Given the description of an element on the screen output the (x, y) to click on. 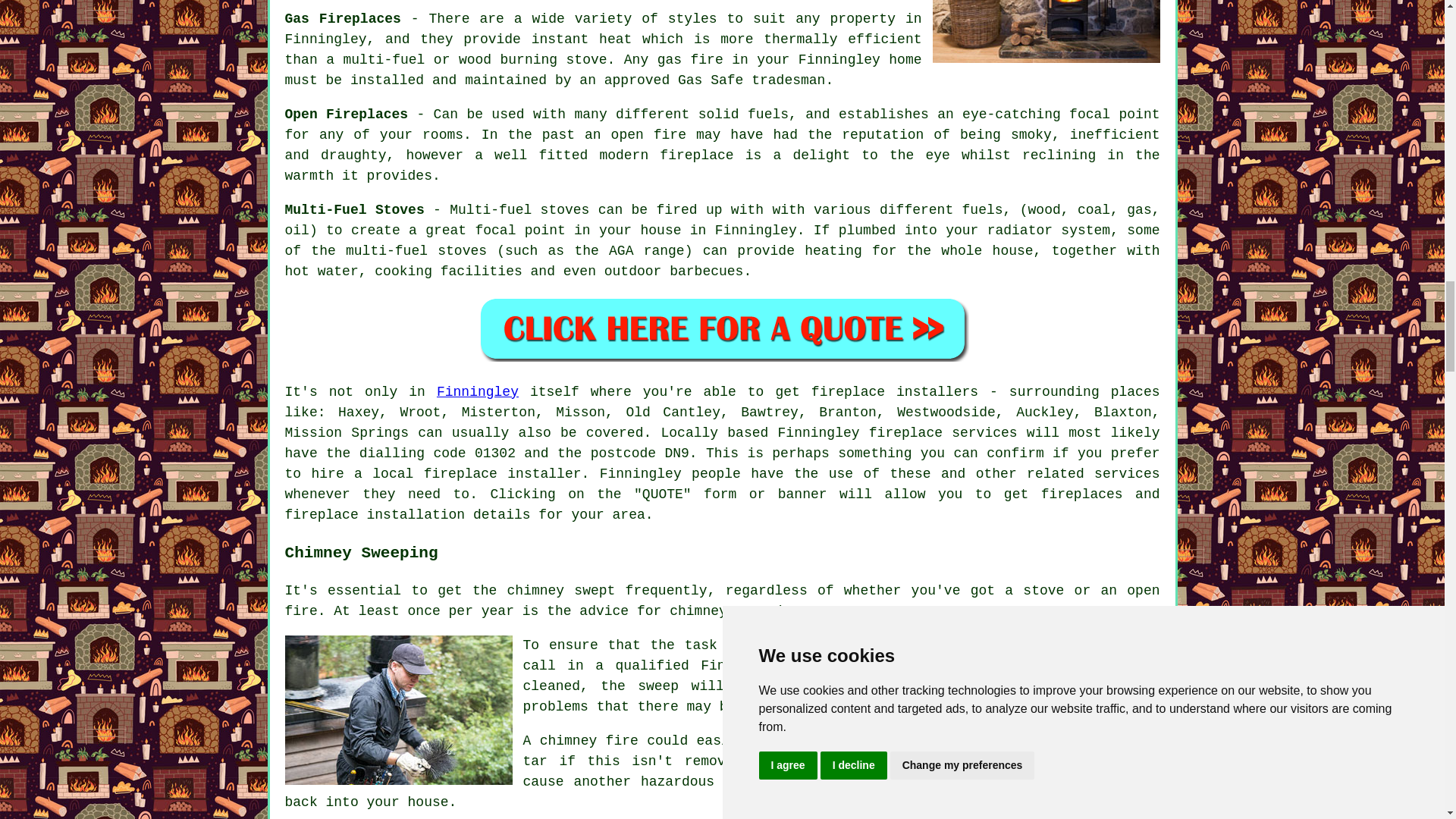
fireplace (847, 391)
Chimney Sweep Finningley (398, 709)
Fireplace Fitters Finningley (1046, 31)
fireplace (460, 473)
multi-fuel stoves (416, 250)
Book a Fireplace Installer in Finningley (722, 328)
